Given the description of an element on the screen output the (x, y) to click on. 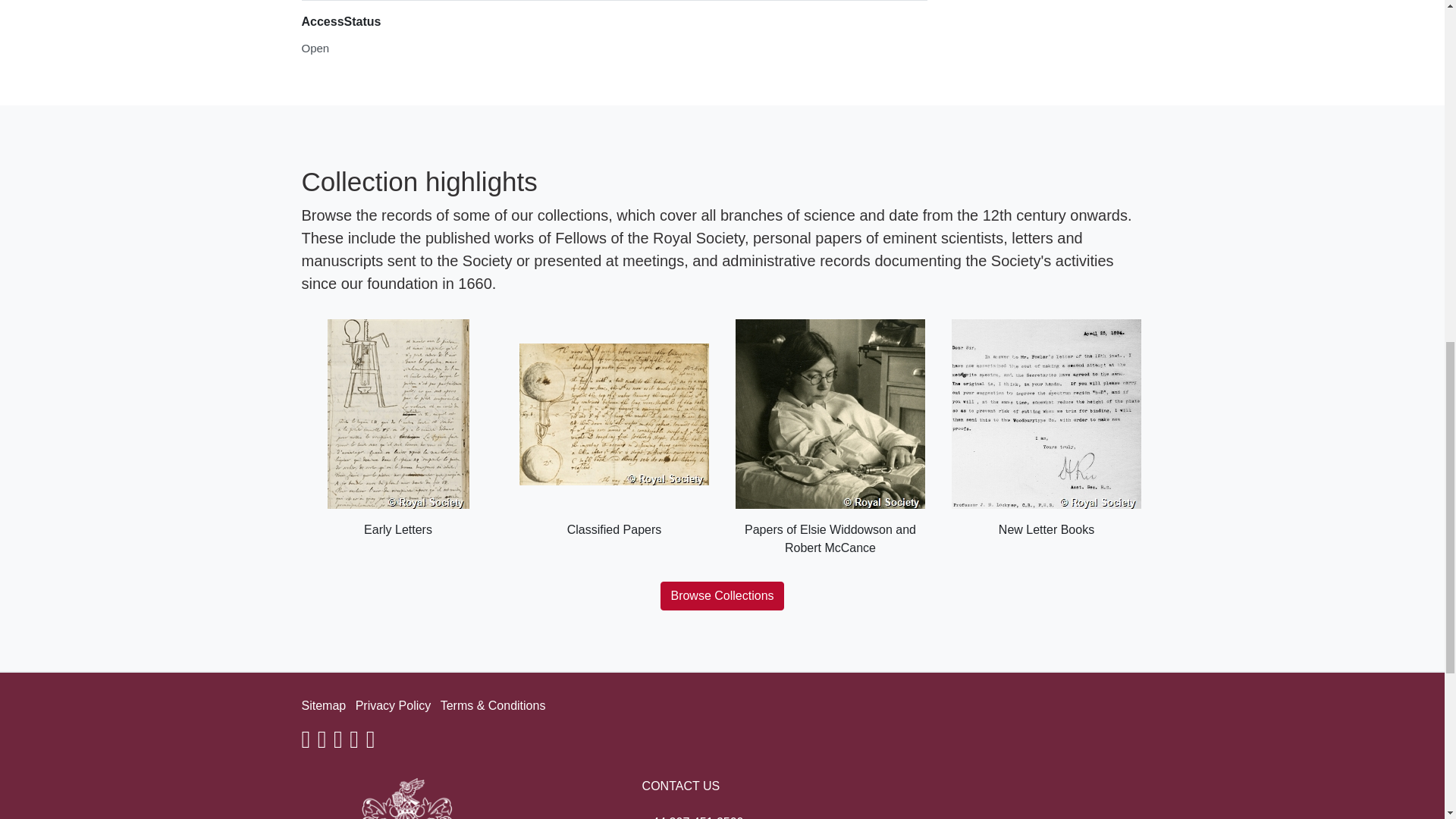
Browse Collections (722, 595)
Privacy Policy (392, 705)
Sitemap (323, 705)
